Given the description of an element on the screen output the (x, y) to click on. 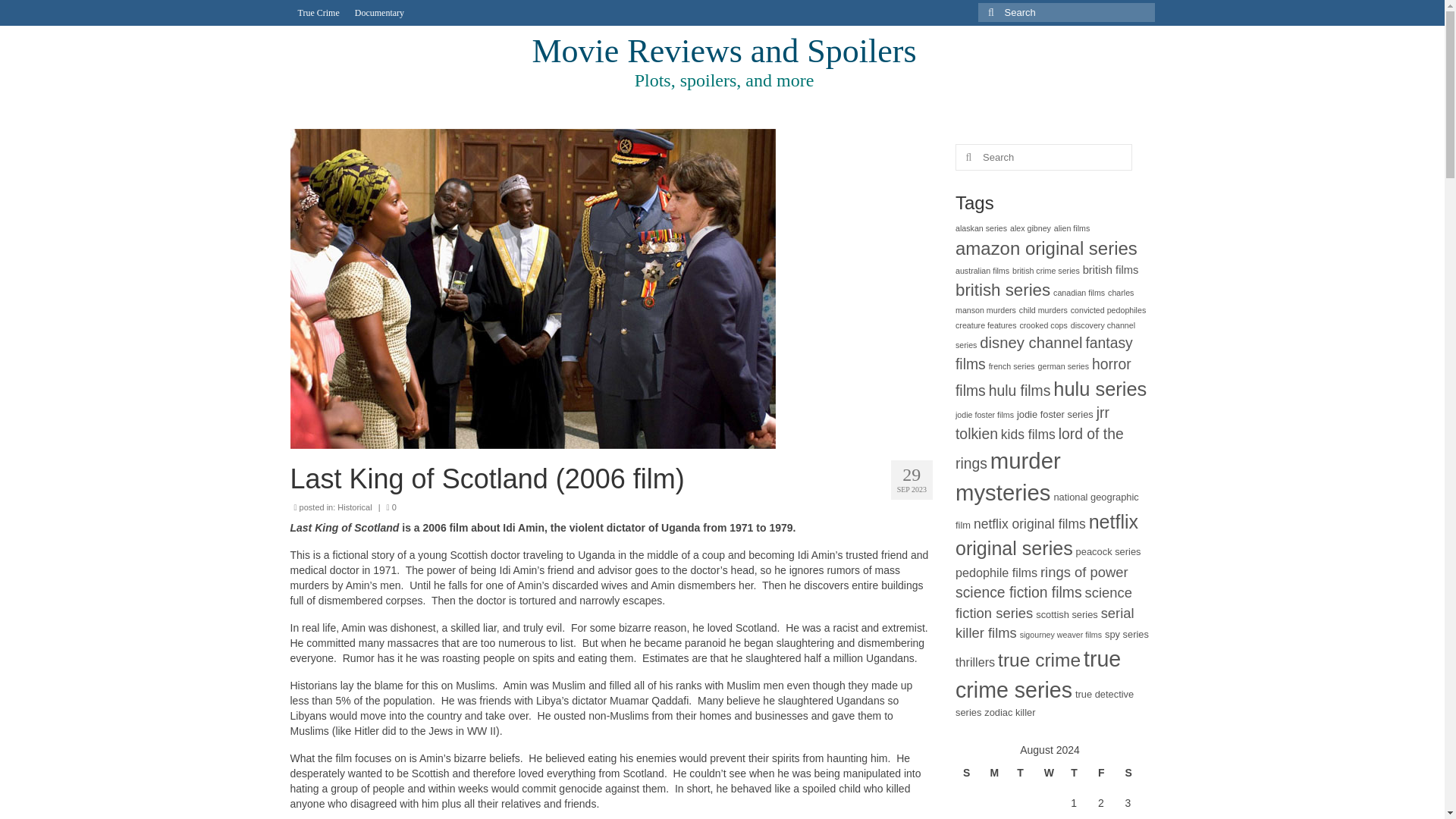
Wednesday (1050, 773)
Documentary (379, 12)
Historical (354, 506)
True Crime (317, 12)
Thursday (1076, 773)
Monday (996, 773)
Sunday (968, 773)
Friday (1104, 773)
Saturday (1130, 773)
Tuesday (1022, 773)
